Given the description of an element on the screen output the (x, y) to click on. 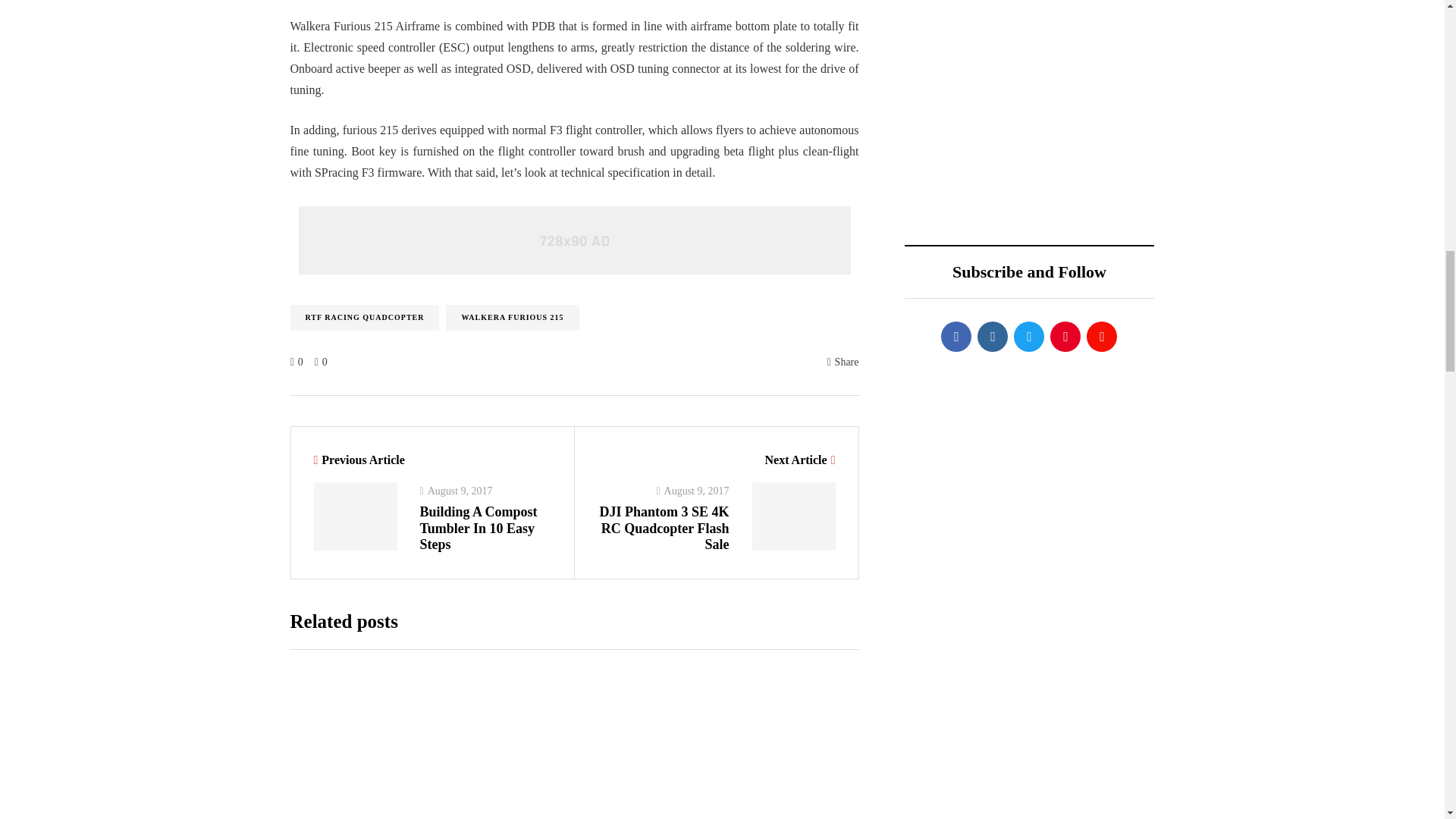
RTF RACING QUADCOPTER (364, 317)
WALKERA FURIOUS 215 (511, 317)
